Given the description of an element on the screen output the (x, y) to click on. 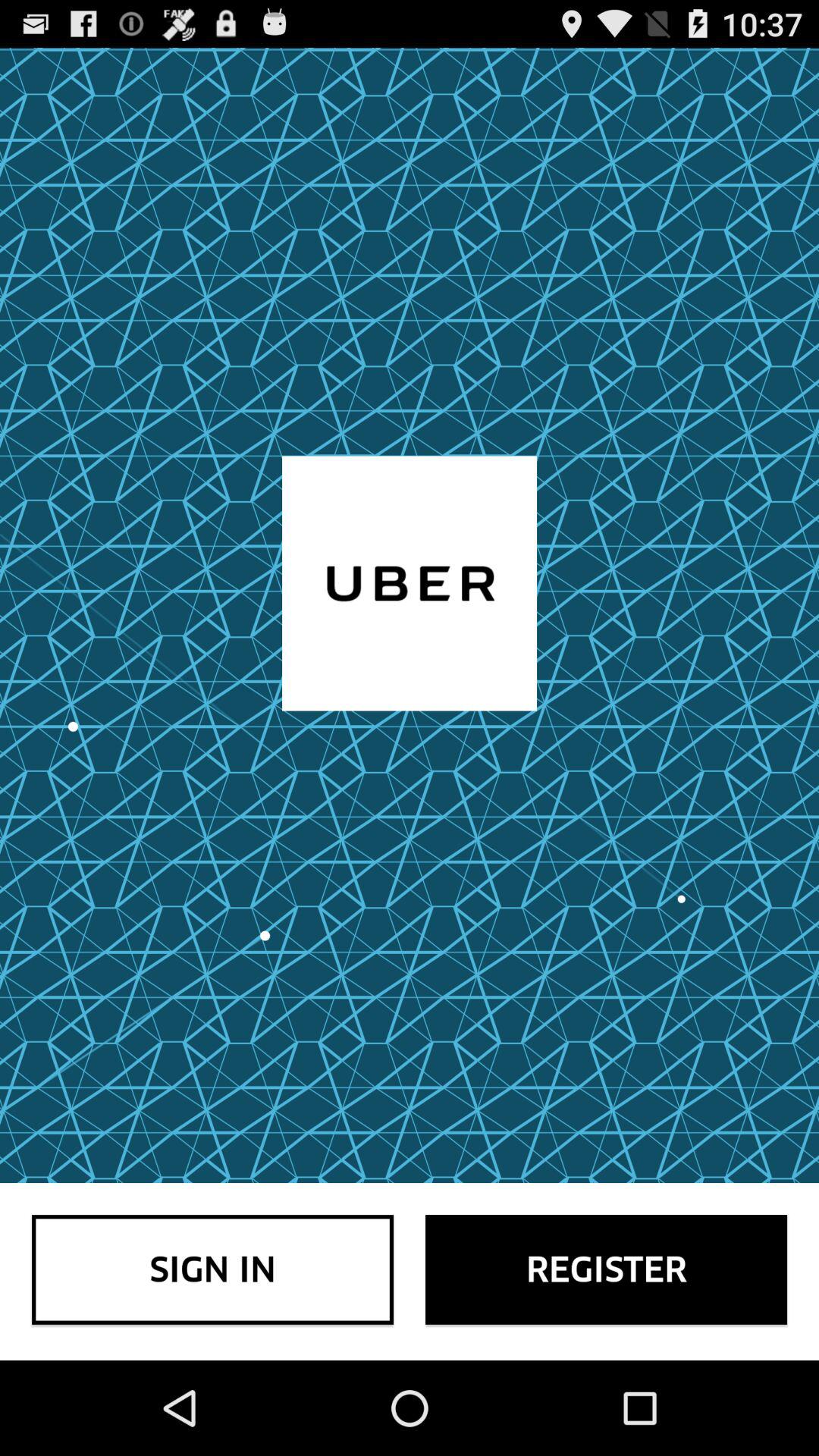
press the sign in item (212, 1269)
